Given the description of an element on the screen output the (x, y) to click on. 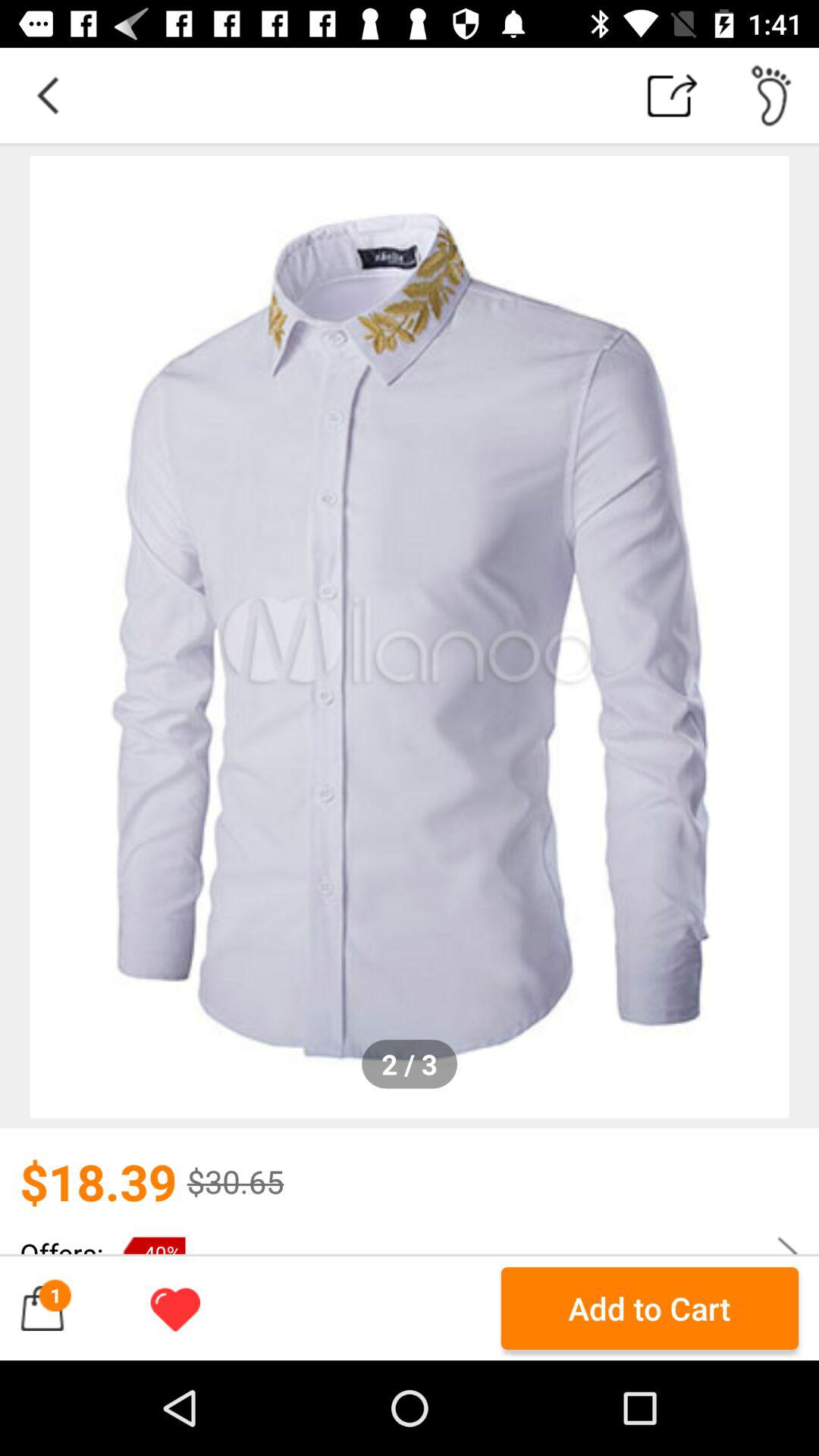
like the page (175, 1308)
